Given the description of an element on the screen output the (x, y) to click on. 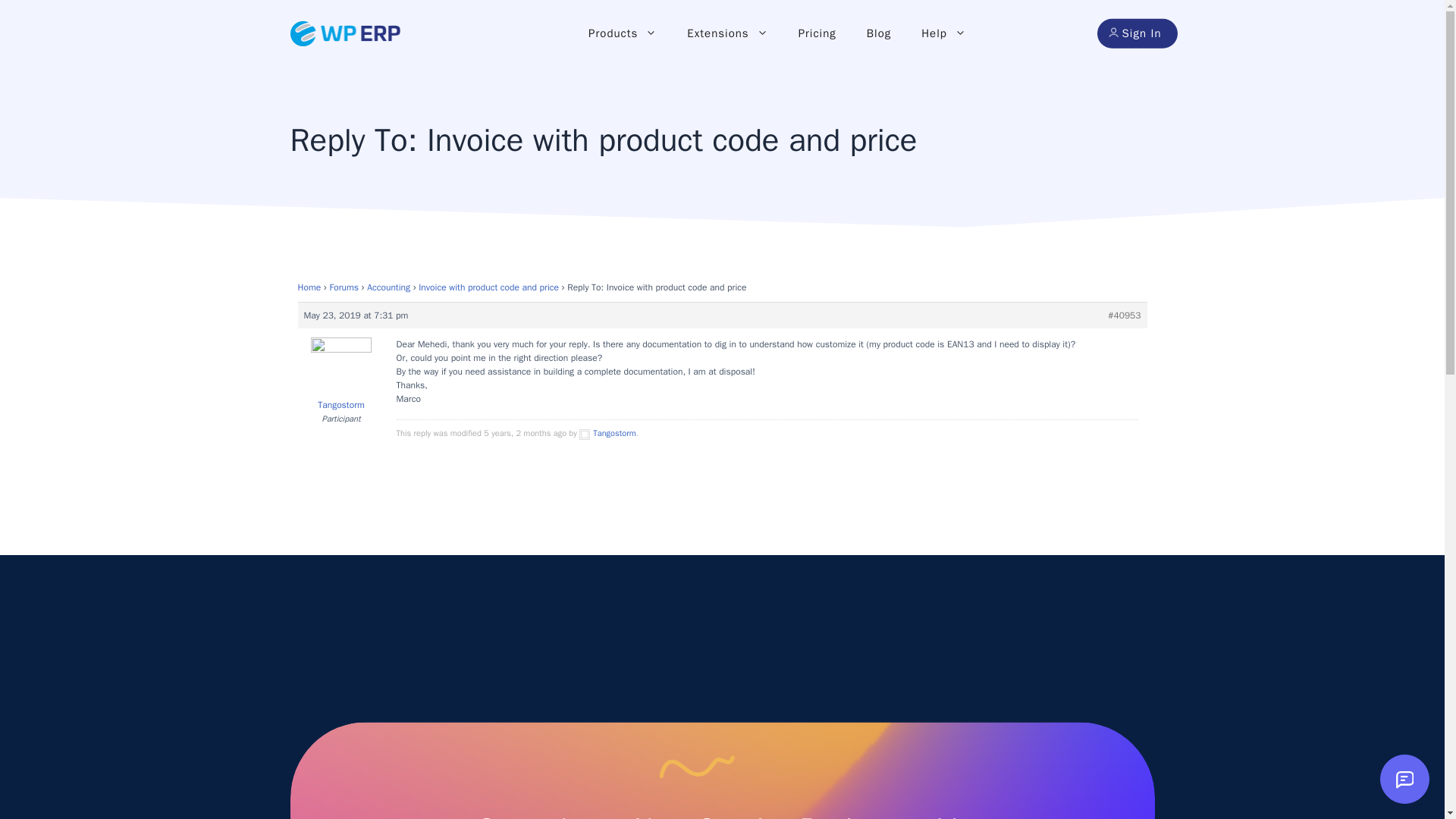
WP ERP Configuration, Usage and Productivity Tips (878, 33)
Invoice with product code and price (489, 287)
View Tangostorm's profile (340, 377)
Tangostorm (606, 432)
Accounting (388, 287)
Pricing (817, 33)
Forums (343, 287)
View Tangostorm's profile (606, 432)
Extensions (727, 33)
Products (622, 33)
